Given the description of an element on the screen output the (x, y) to click on. 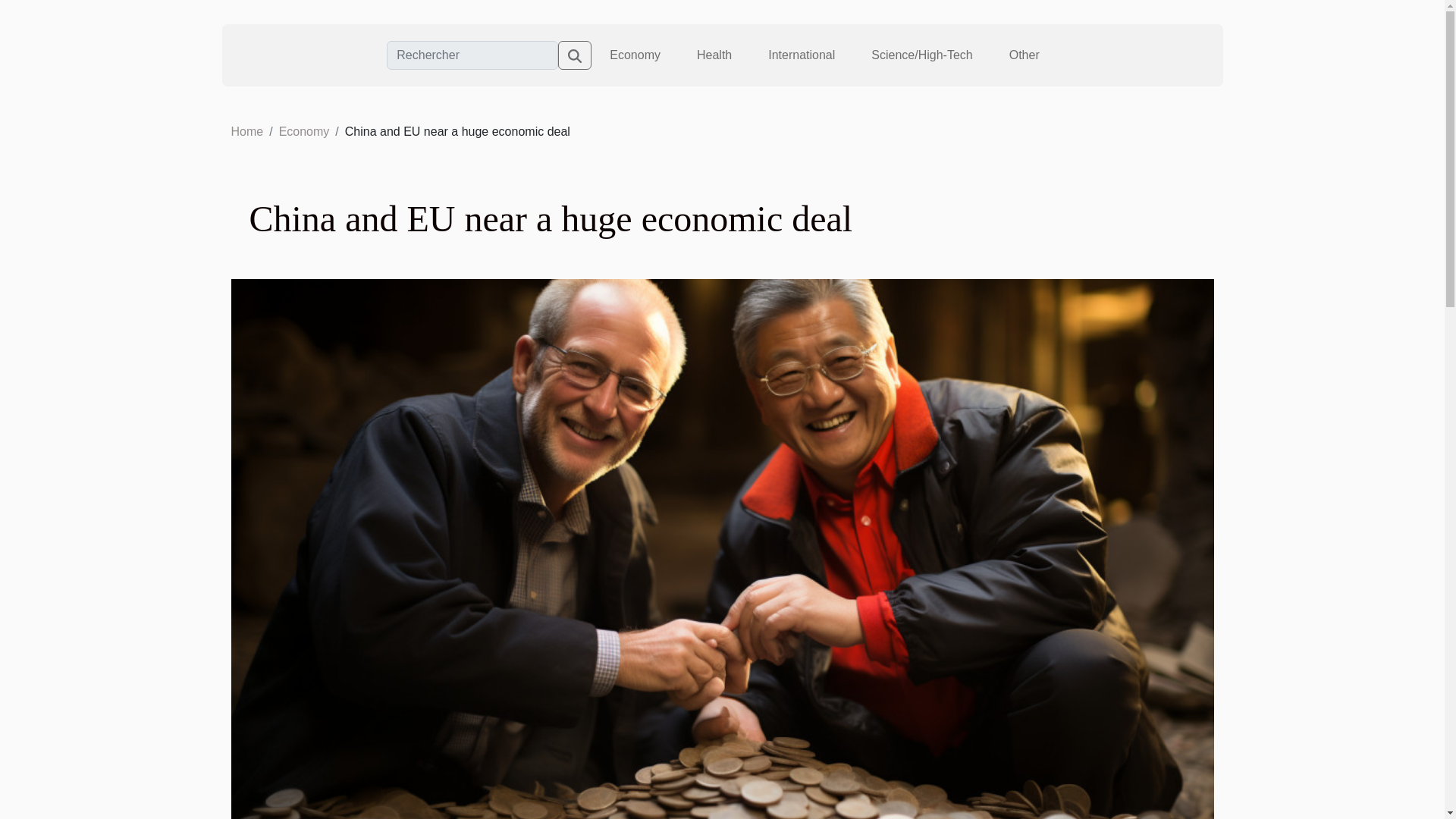
Other (1024, 55)
Home (246, 131)
Economy (635, 55)
Economy (304, 131)
International (801, 55)
Economy (304, 131)
Health (714, 55)
